Given the description of an element on the screen output the (x, y) to click on. 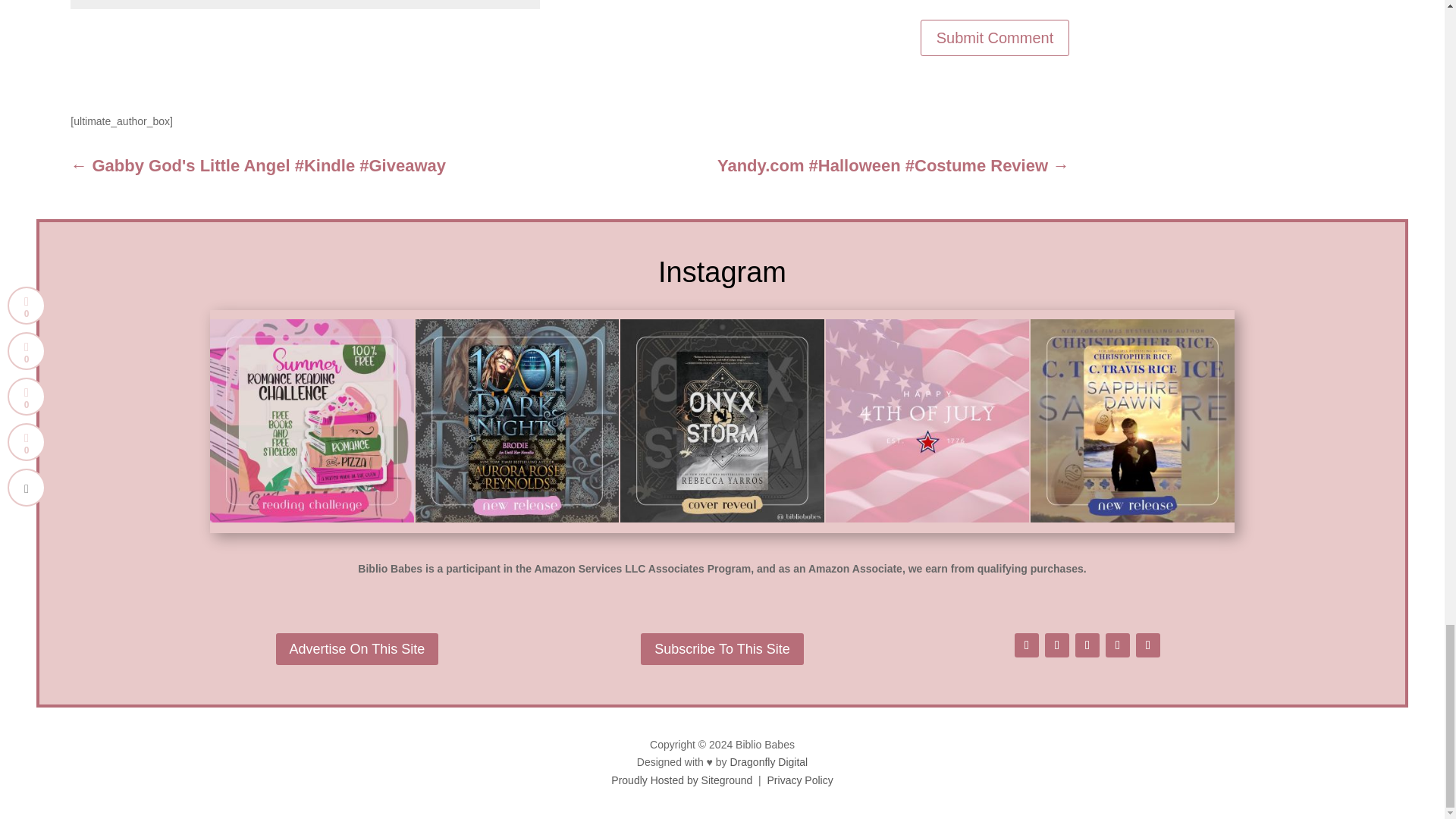
Follow on Facebook (1026, 645)
Follow on Instagram (1087, 645)
Follow on X (1056, 645)
